Given the description of an element on the screen output the (x, y) to click on. 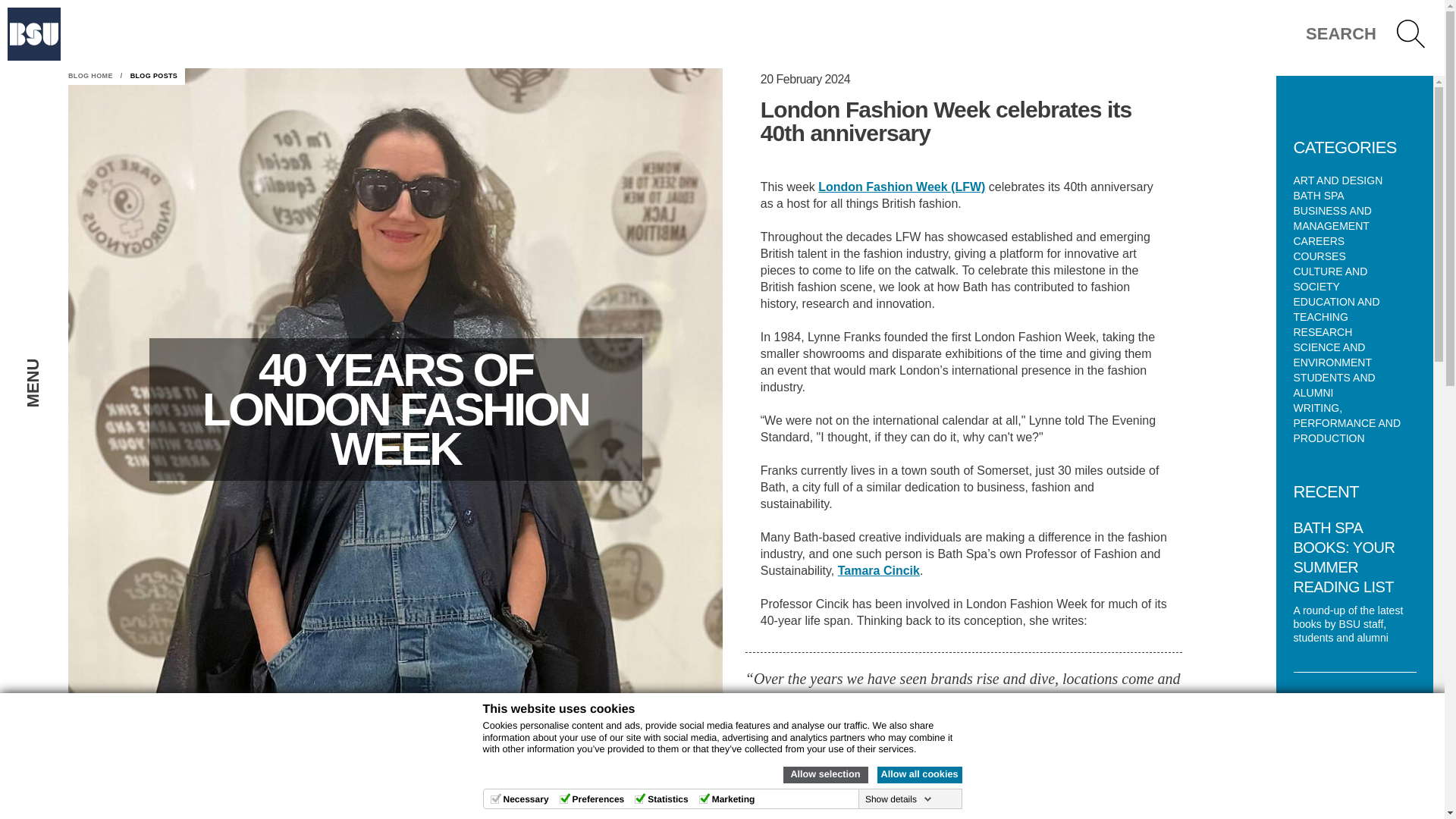
Allow selection (825, 774)
Allow all cookies (918, 774)
Show details (897, 799)
